Given the description of an element on the screen output the (x, y) to click on. 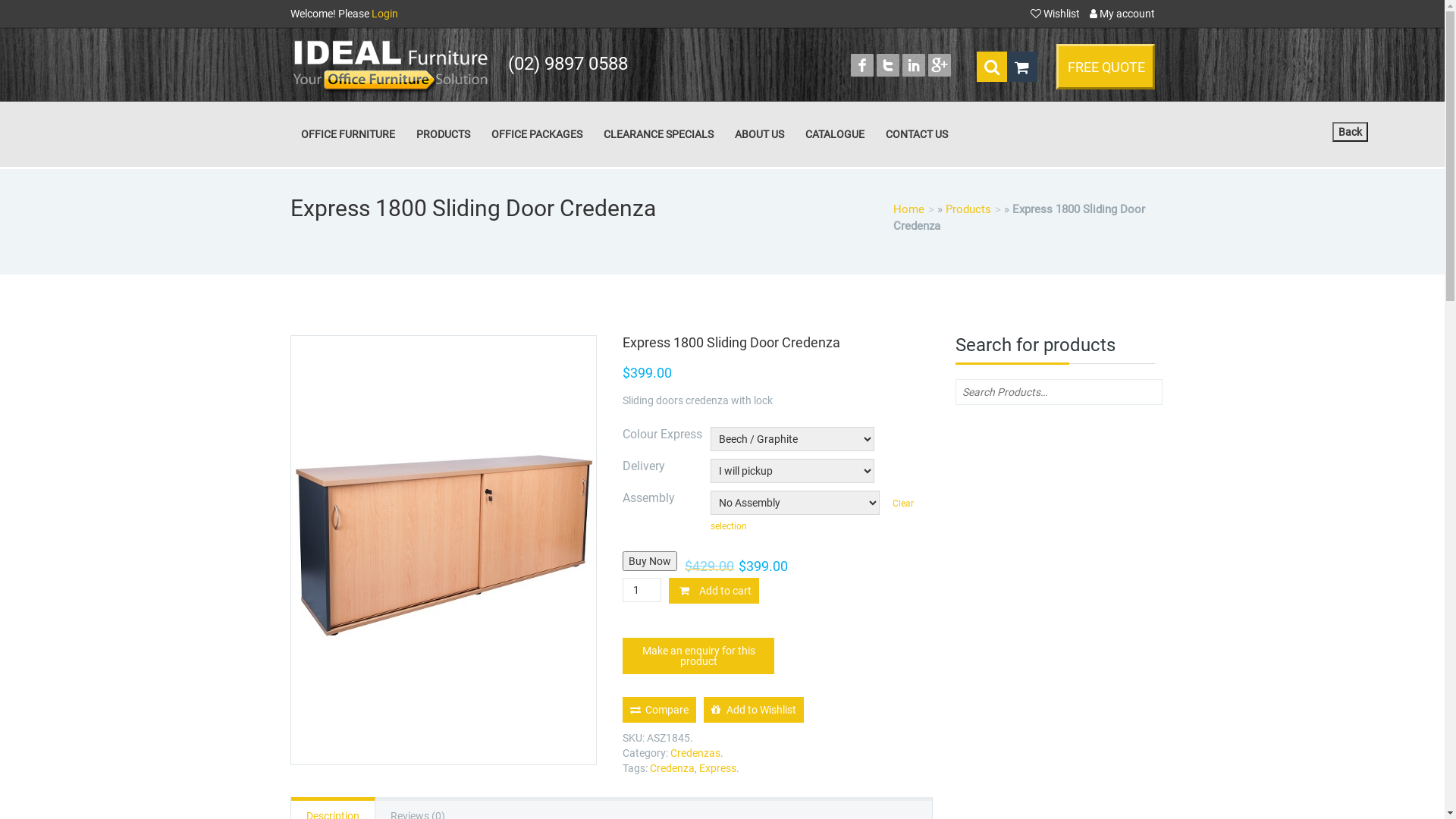
CLEARANCE SPECIALS Element type: text (658, 134)
Qty Element type: hover (641, 589)
OFFICE FURNITURE Element type: text (346, 134)
OFFICE PACKAGES Element type: text (536, 134)
Buy Now Element type: text (649, 561)
Add to cart Element type: text (713, 590)
express sliding door credenza Element type: hover (442, 550)
Search for: Element type: hover (1058, 391)
CATALOGUE Element type: text (834, 134)
ABOUT US Element type: text (758, 134)
Back Element type: text (1350, 131)
Products Element type: text (972, 209)
Credenza Element type: text (671, 768)
Home Element type: text (913, 209)
CONTACT US Element type: text (916, 134)
Compare Element type: text (659, 709)
Add to Wishlist Element type: text (753, 709)
Clear selection Element type: text (811, 514)
Express Element type: text (717, 768)
Search Element type: text (22, 8)
PRODUCTS Element type: text (442, 134)
Login Element type: text (384, 13)
Wishlist Element type: text (1055, 13)
Credenzas Element type: text (695, 752)
My account Element type: text (1121, 13)
(02) 9897 0588 Element type: text (567, 63)
